Given the description of an element on the screen output the (x, y) to click on. 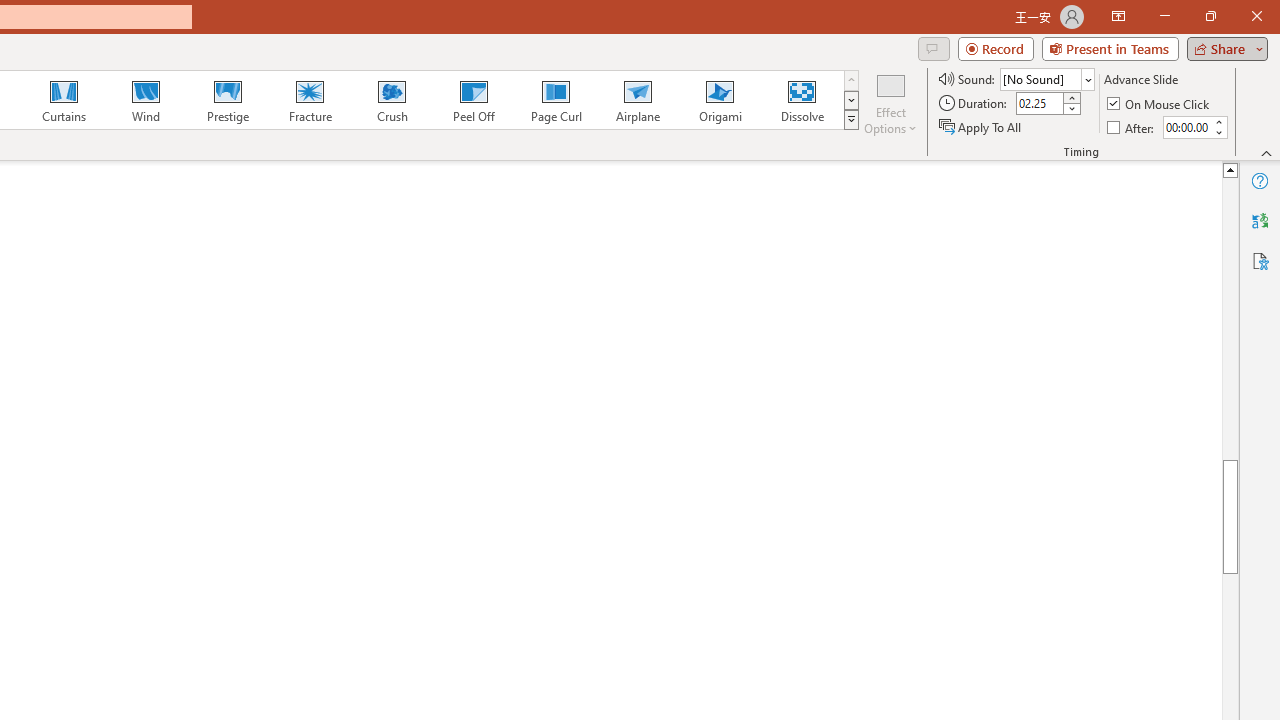
Origami (719, 100)
Less (1218, 132)
Fracture (309, 100)
On Mouse Click (1159, 103)
After (1186, 127)
Curtains (63, 100)
More (1218, 121)
Prestige (227, 100)
Crush (391, 100)
